Given the description of an element on the screen output the (x, y) to click on. 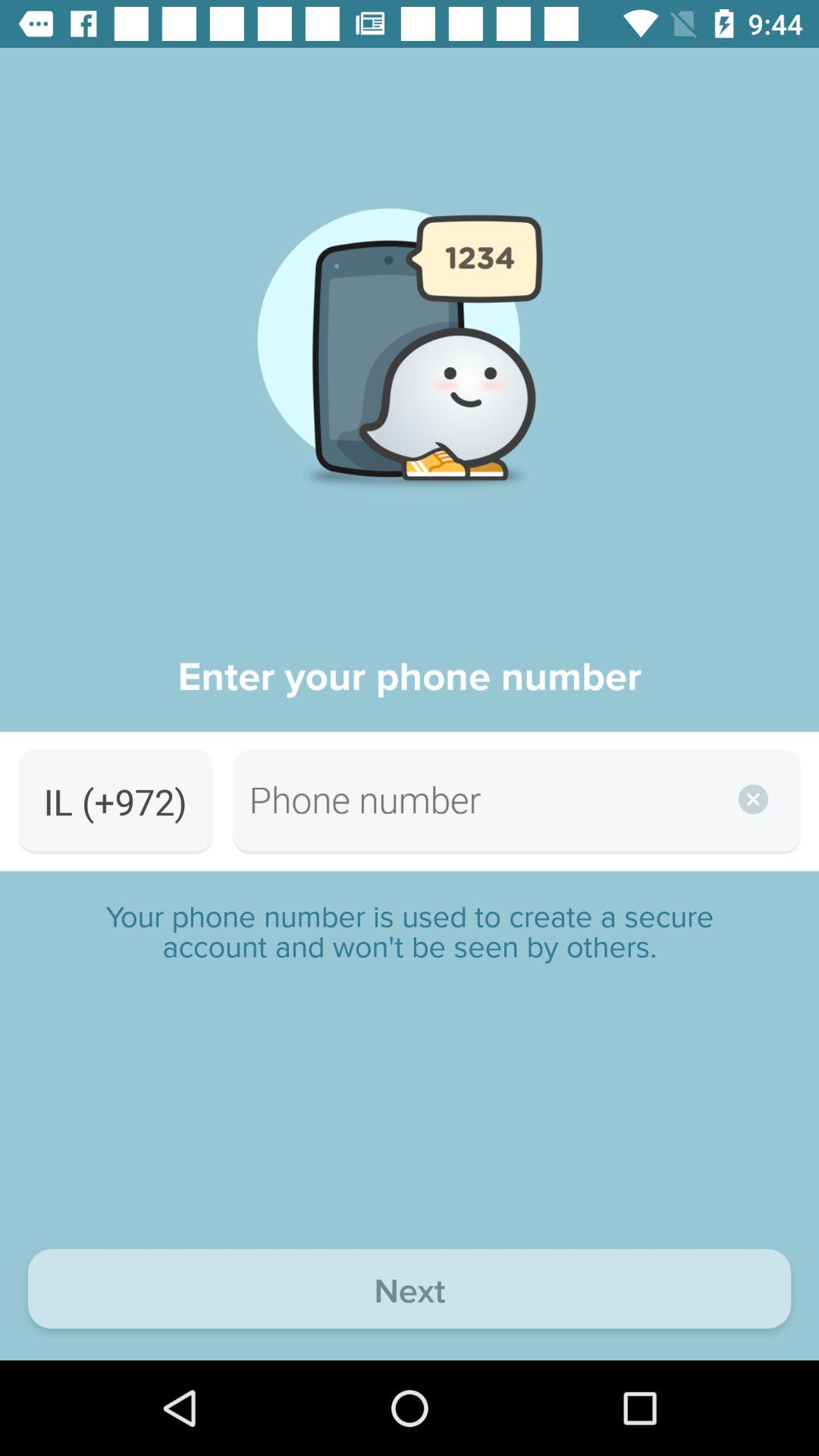
press the icon above your phone number item (114, 801)
